Given the description of an element on the screen output the (x, y) to click on. 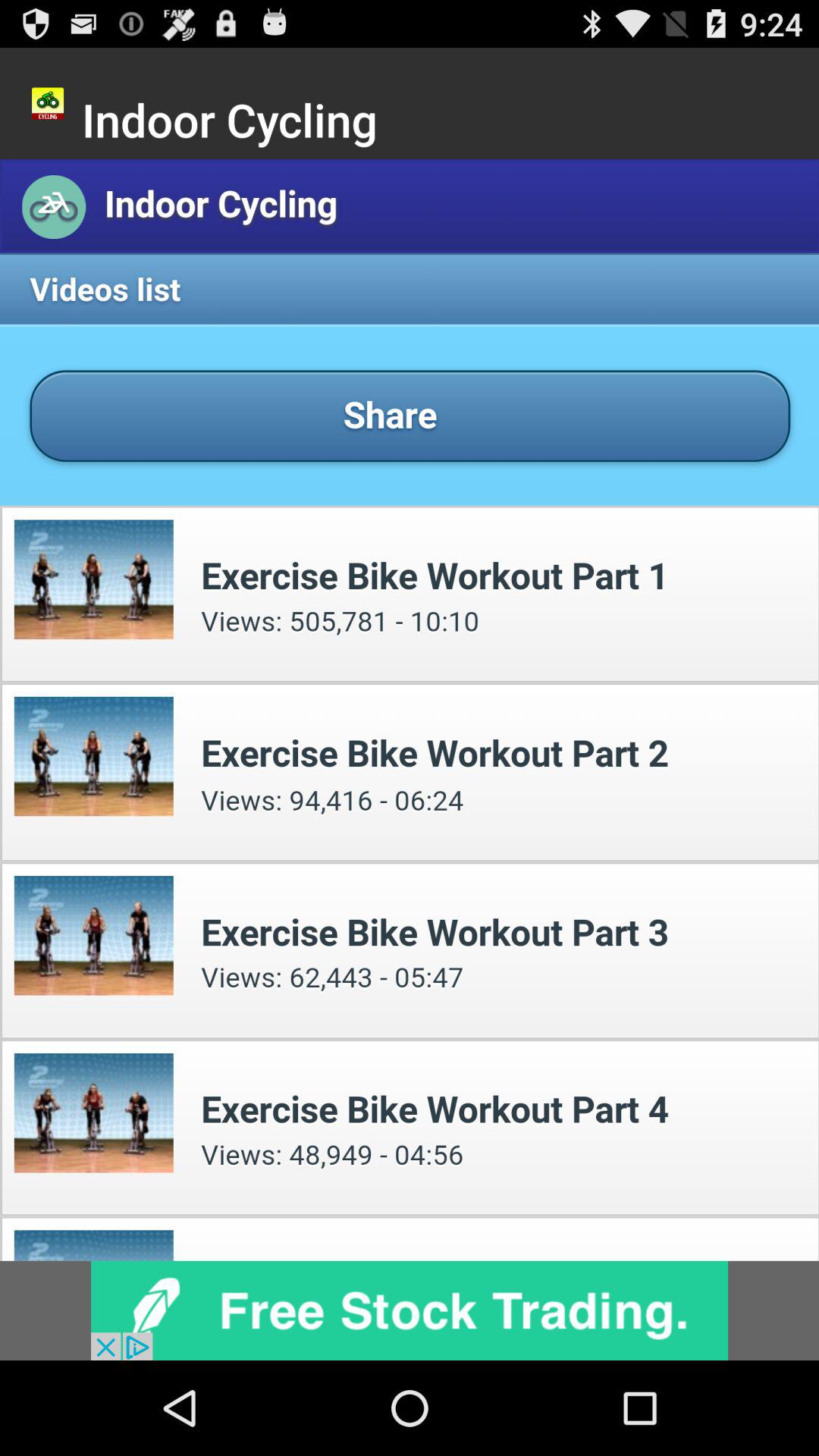
advertisement (409, 1310)
